Given the description of an element on the screen output the (x, y) to click on. 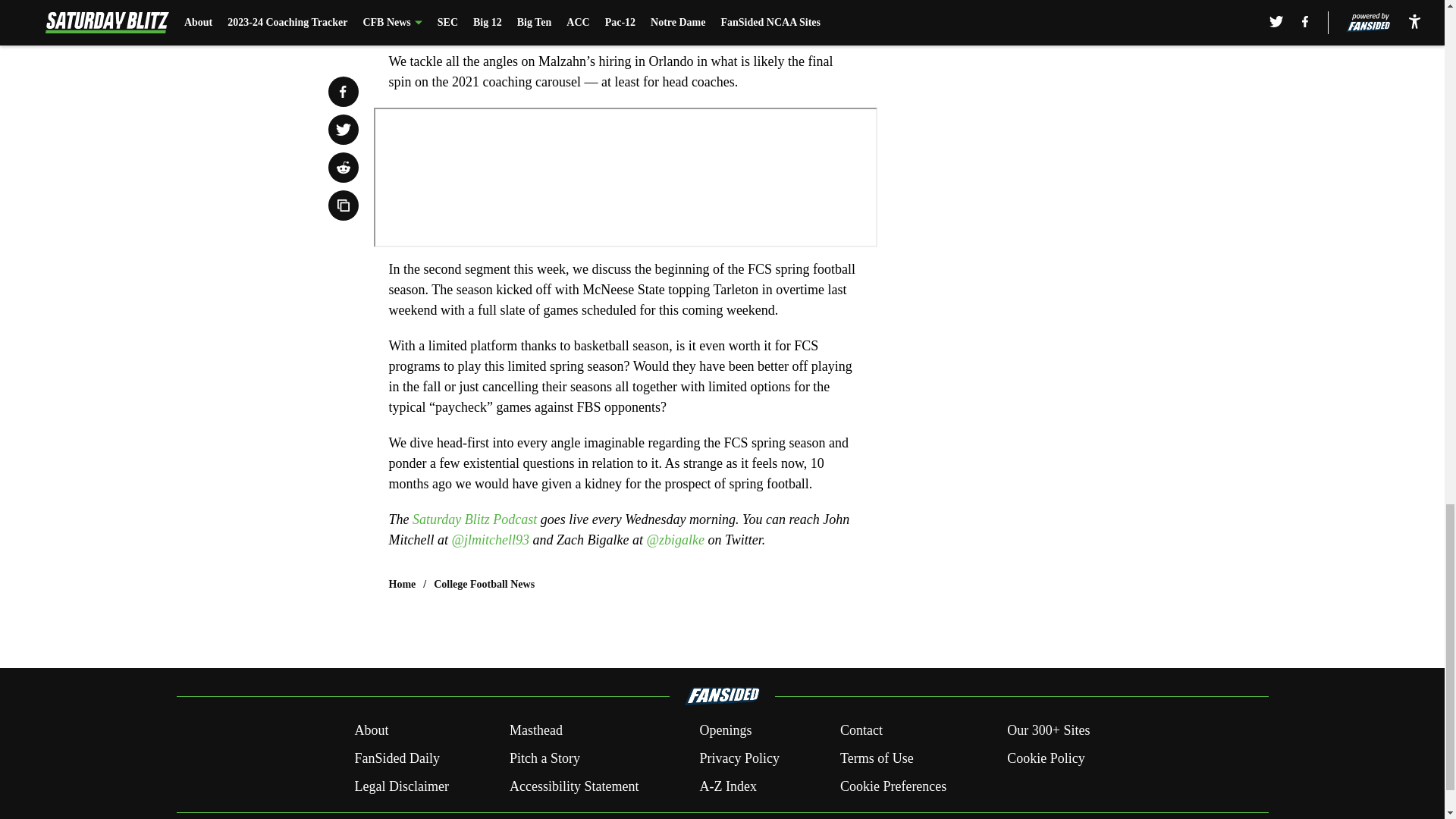
Openings (724, 730)
Saturday Blitz Podcast (474, 519)
College Football News (483, 584)
Masthead (535, 730)
FanSided Daily (396, 758)
Contact (861, 730)
Pitch a Story (544, 758)
About (370, 730)
Home (401, 584)
